Given the description of an element on the screen output the (x, y) to click on. 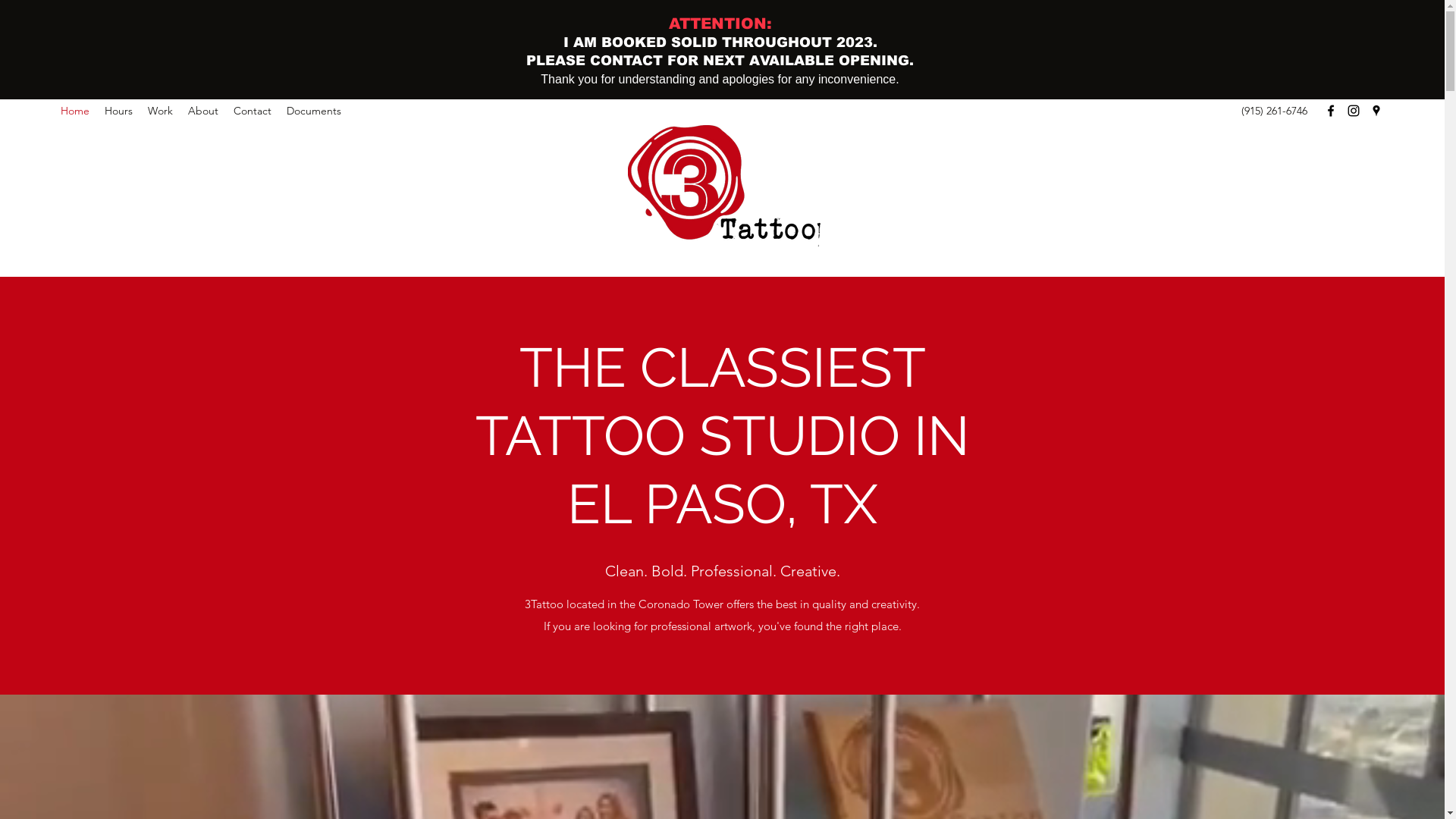
Contact Element type: text (252, 110)
Documents Element type: text (313, 110)
Home Element type: text (75, 110)
Hours Element type: text (118, 110)
About Element type: text (202, 110)
Work Element type: text (160, 110)
